Given the description of an element on the screen output the (x, y) to click on. 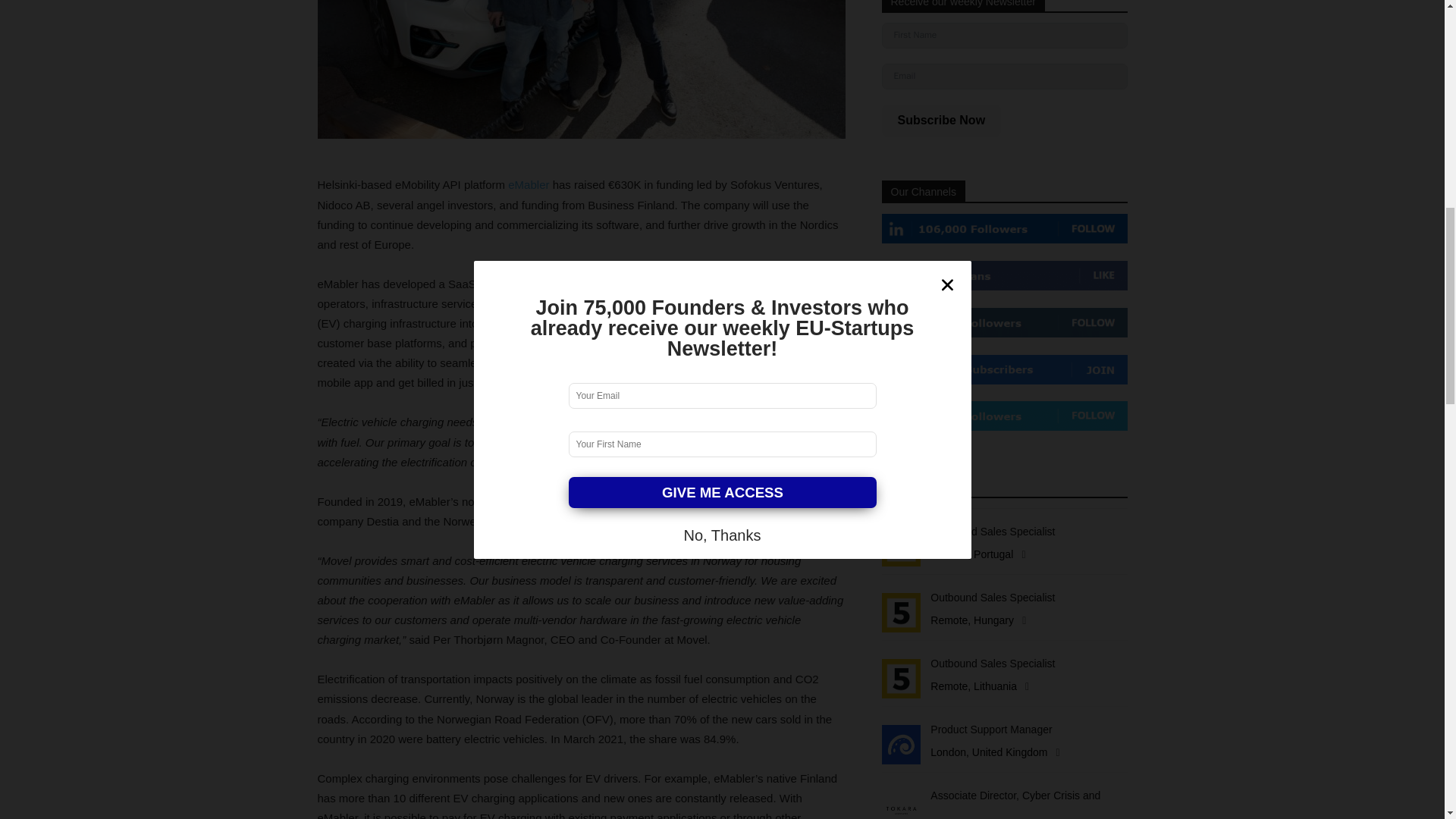
Ville Parviainen and Juha Stenberg (580, 69)
